Given the description of an element on the screen output the (x, y) to click on. 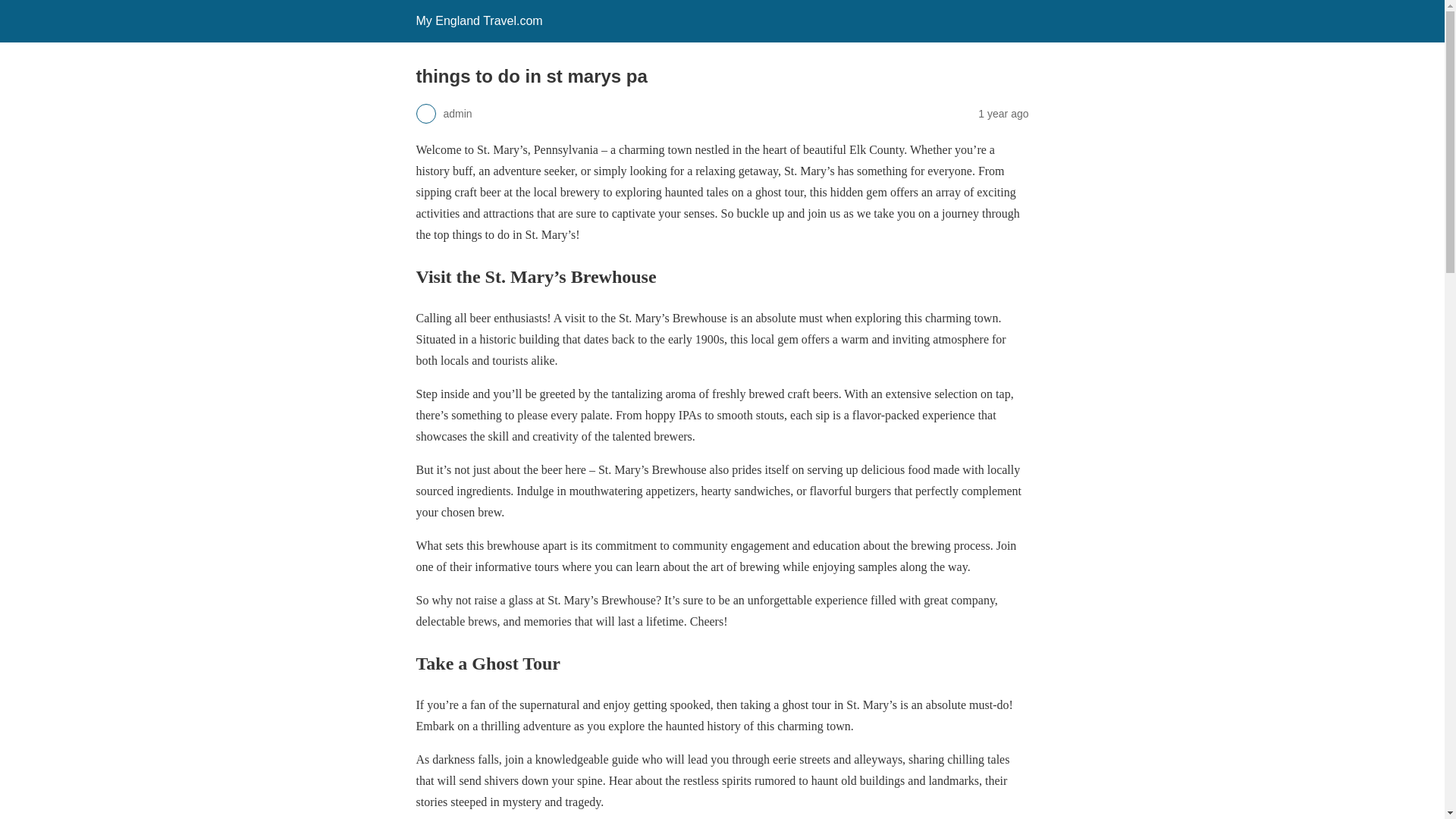
My England Travel.com (477, 20)
